Given the description of an element on the screen output the (x, y) to click on. 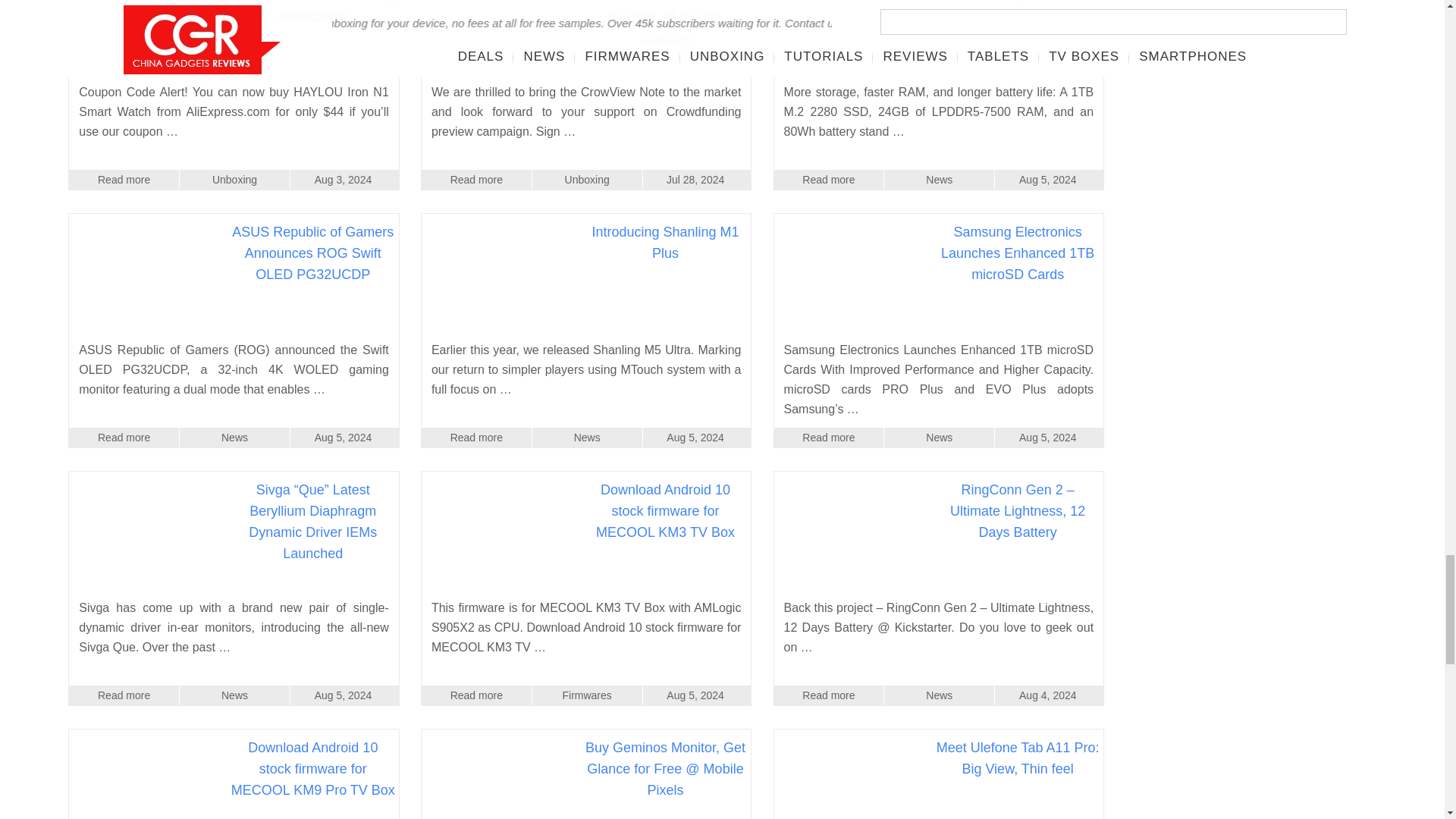
Unboxing (234, 179)
Read more (123, 179)
News (938, 179)
Unboxing (587, 179)
Read more (476, 179)
ASUS Republic of Gamers New ROG Ally X Available for Order (1016, 17)
Read more (828, 179)
